Given the description of an element on the screen output the (x, y) to click on. 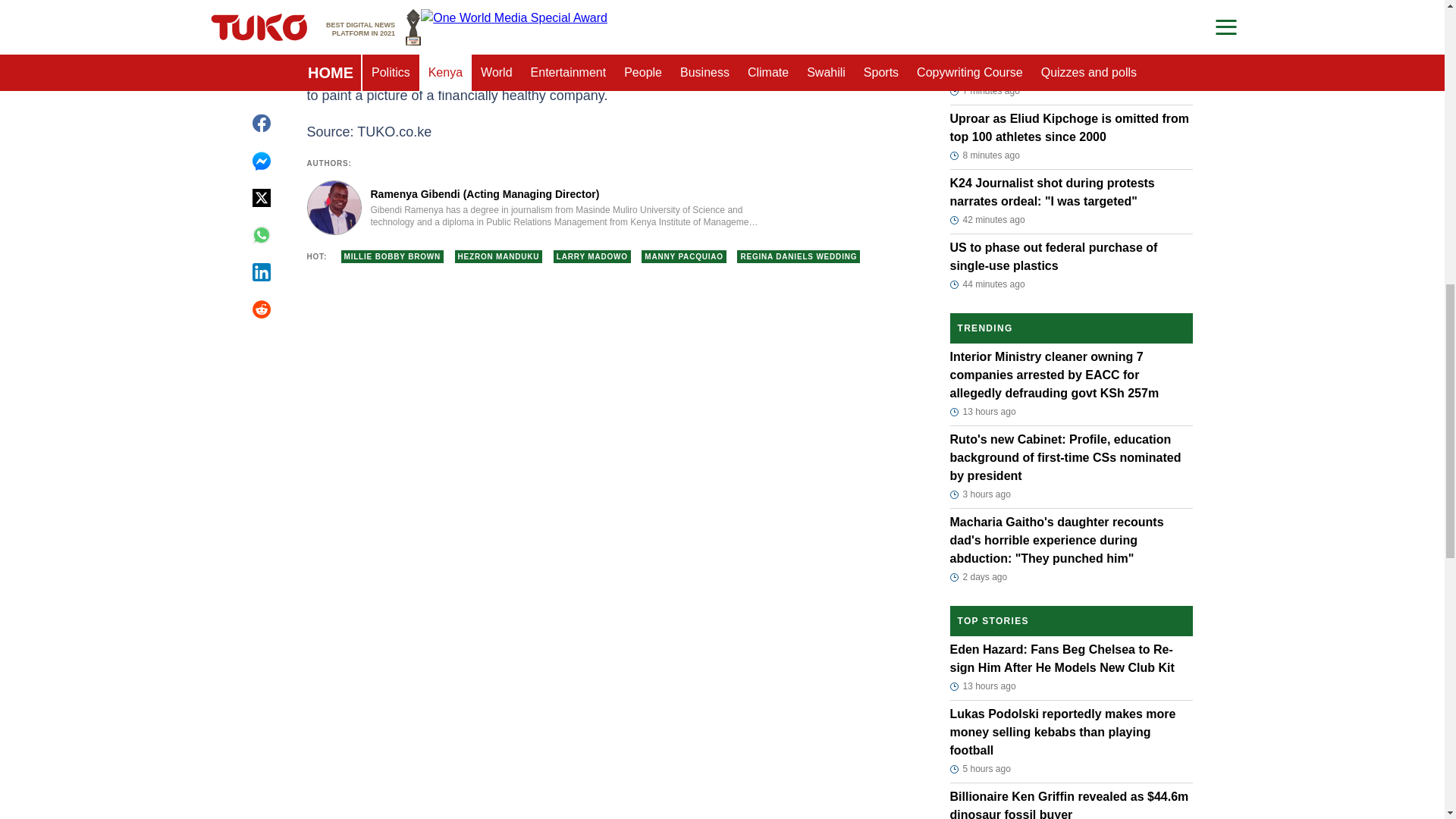
Author page (533, 207)
